Given the description of an element on the screen output the (x, y) to click on. 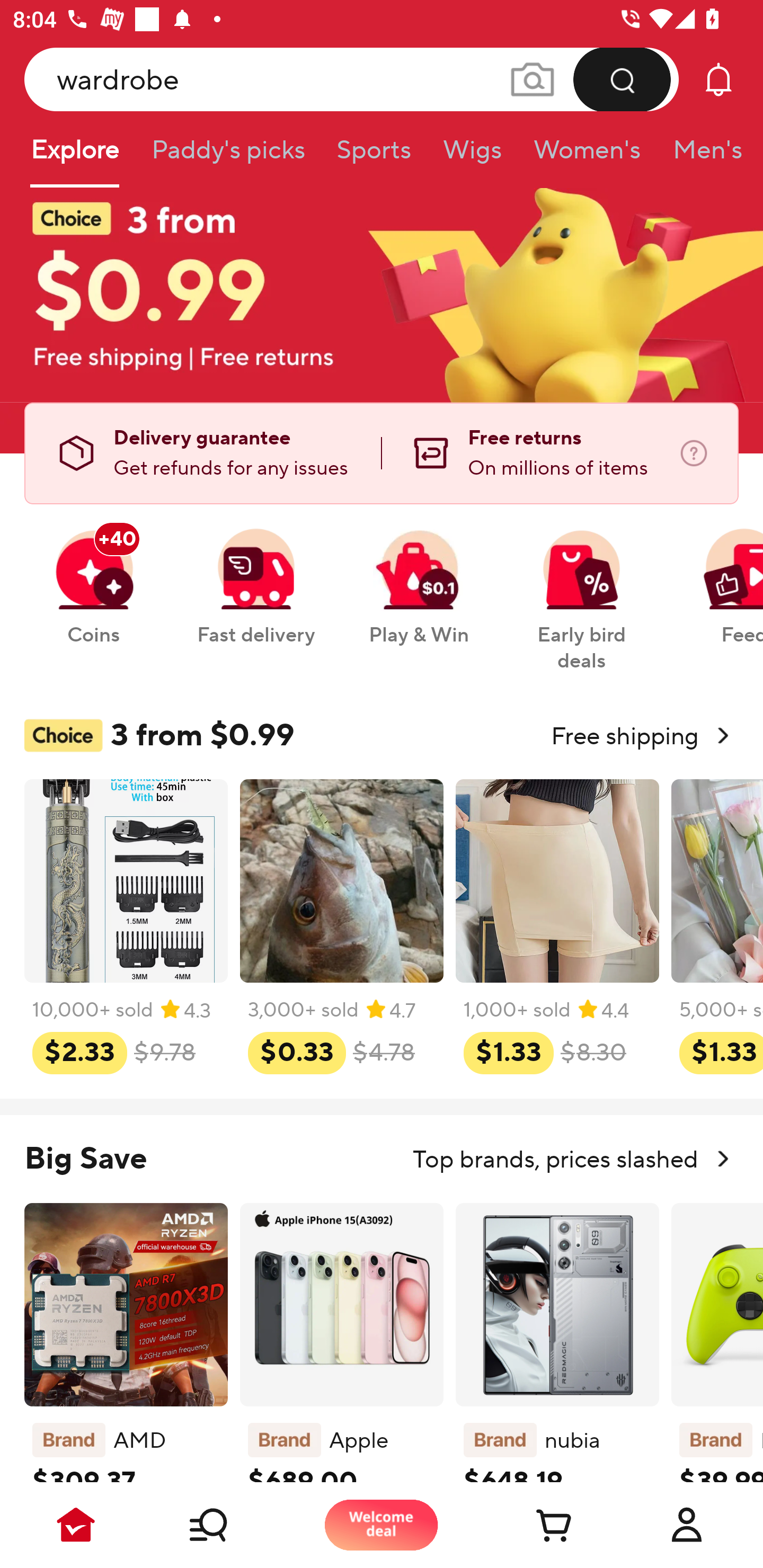
wardrobe (351, 79)
Paddy's picks (227, 155)
Sports (373, 155)
Wigs (472, 155)
Women's (586, 155)
Men's (701, 155)
Coinsbutton +40 Coins (93, 576)
Fast deliverybutton Fast delivery (255, 576)
Play & Winbutton Play & Win (418, 576)
Early bird dealsbutton Early bird deals (581, 589)
Feedbutton Feed (719, 576)
Shop (228, 1524)
Cart (533, 1524)
Account (686, 1524)
